Given the description of an element on the screen output the (x, y) to click on. 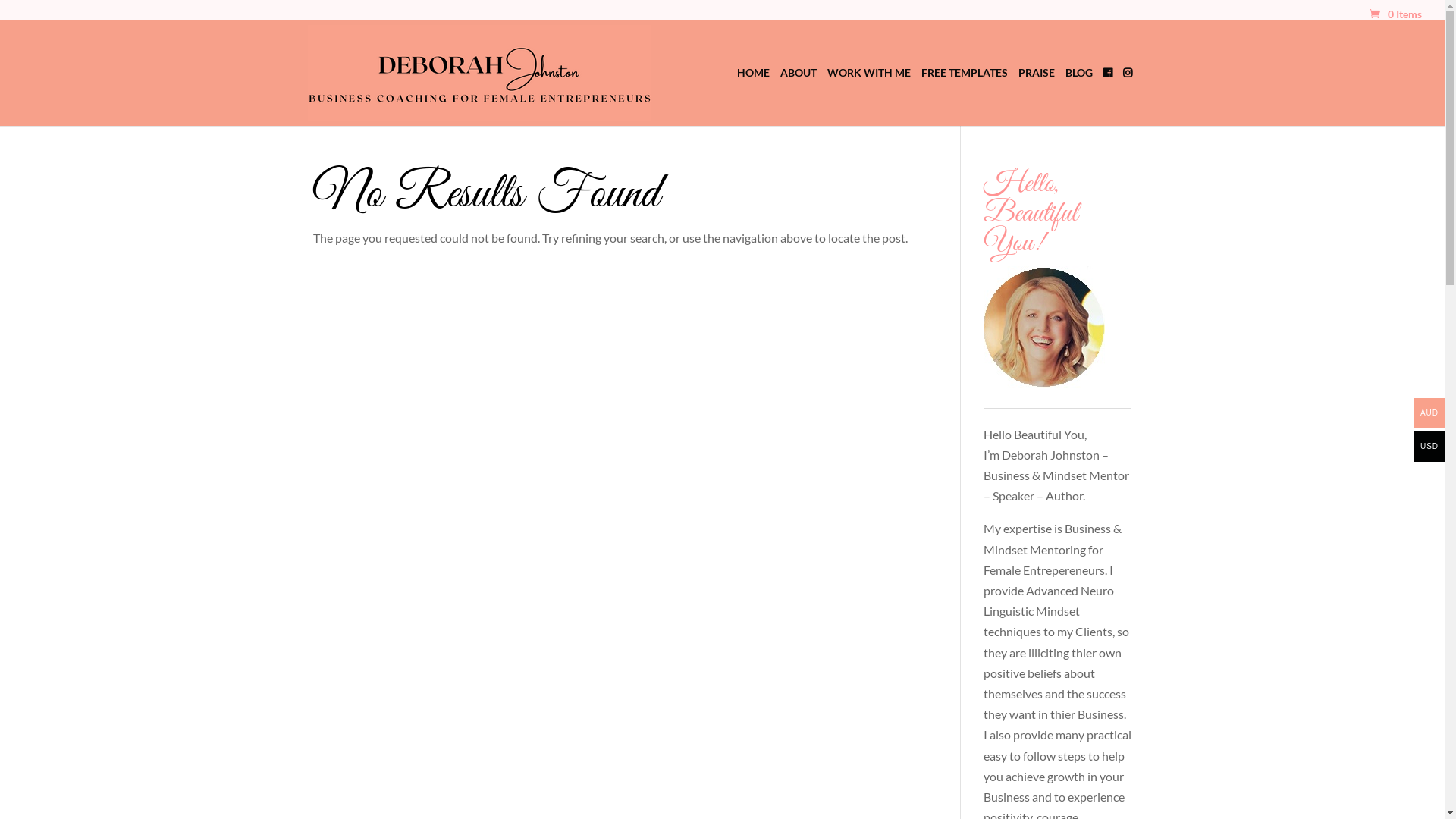
WORK WITH ME Element type: text (868, 95)
advertisement Element type: hover (1043, 325)
BLOG Element type: text (1078, 95)
HOME Element type: text (753, 95)
FREE TEMPLATES Element type: text (963, 95)
PRAISE Element type: text (1035, 95)
ABOUT Element type: text (797, 95)
0 Items Element type: text (1394, 13)
